Given the description of an element on the screen output the (x, y) to click on. 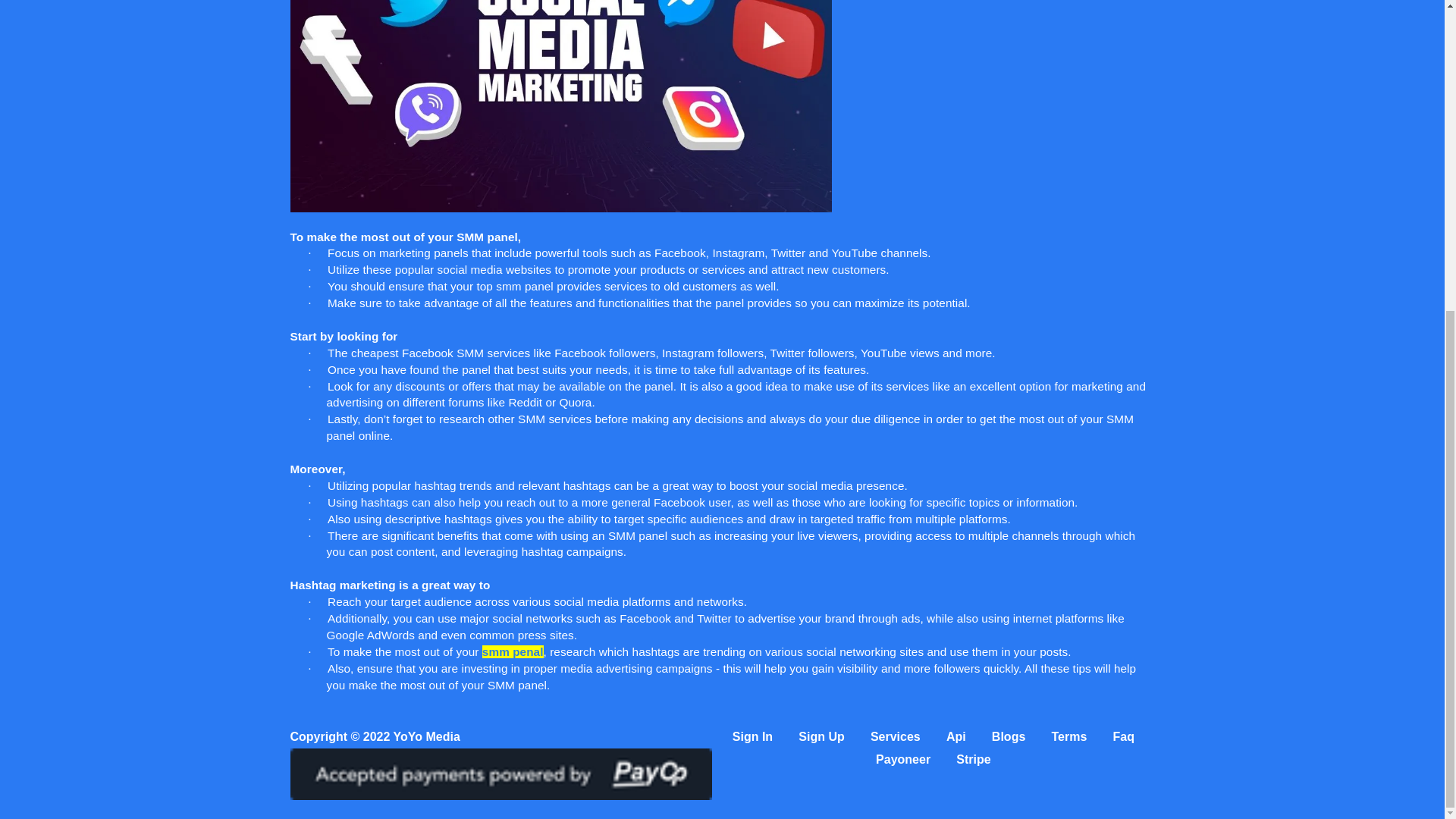
Sign In (752, 736)
Api (956, 736)
Faq (1123, 736)
Services (895, 736)
Sign Up (820, 736)
Payoneer (903, 758)
Stripe (973, 758)
Terms (1068, 736)
smm penal (512, 651)
Blogs (1008, 736)
